Given the description of an element on the screen output the (x, y) to click on. 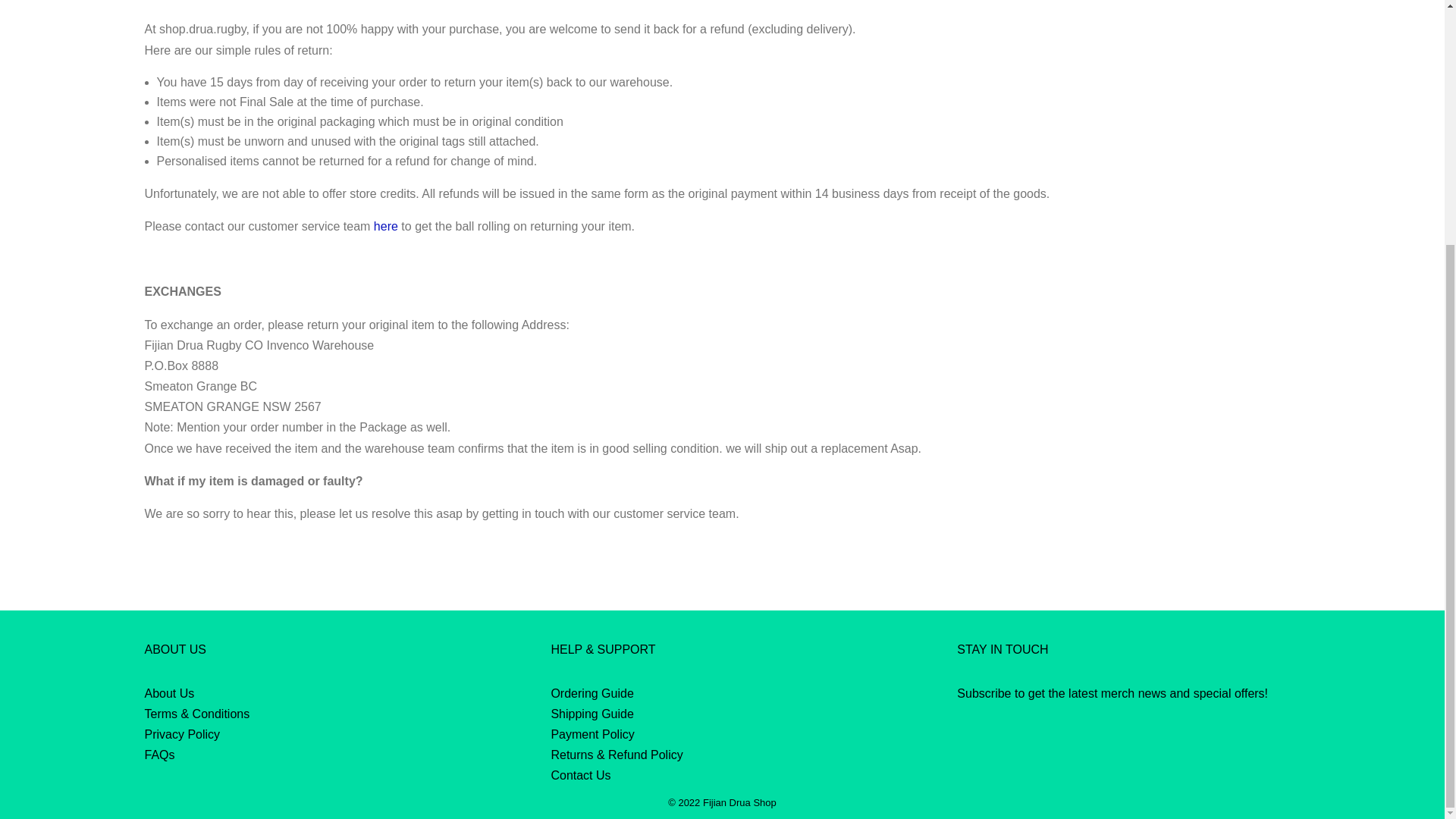
Ordering Guide (591, 693)
Payment Policy (591, 734)
Contact Us Page (385, 226)
Privacy Policy (181, 734)
Contact Us (580, 775)
Shipping Guide (591, 713)
FAQs (159, 754)
About Us (168, 693)
here (385, 226)
